Given the description of an element on the screen output the (x, y) to click on. 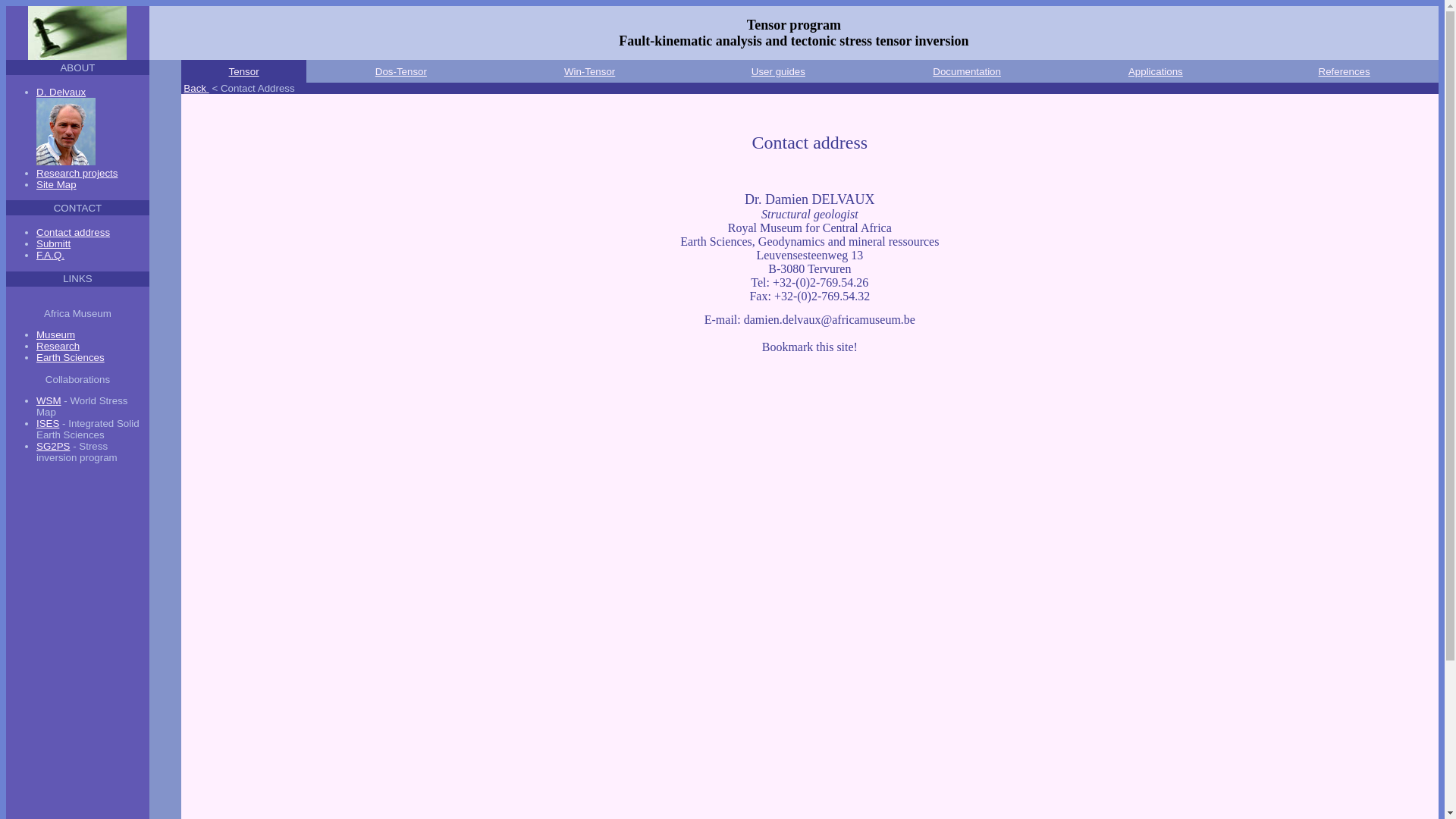
Back  Element type: text (195, 88)
Dos-Tensor Element type: text (400, 70)
Contact address Element type: text (72, 232)
Applications Element type: text (1155, 70)
WSM Element type: text (48, 400)
References Element type: text (1344, 70)
Tensor Element type: text (244, 70)
Museum Element type: text (55, 334)
Research projects Element type: text (76, 172)
Bookmark this site! Element type: text (809, 346)
Submitt Element type: text (53, 243)
F.A.Q. Element type: text (50, 254)
User guides Element type: text (778, 70)
damien.delvaux@africamuseum.be Element type: text (829, 319)
Win-Tensor Element type: text (589, 70)
Research Element type: text (57, 345)
Site Map Element type: text (56, 184)
ISES Element type: text (47, 423)
Earth Sciences Element type: text (70, 357)
Documentation Element type: text (966, 70)
SG2PS Element type: text (52, 445)
D. Delvaux Element type: text (65, 126)
